Given the description of an element on the screen output the (x, y) to click on. 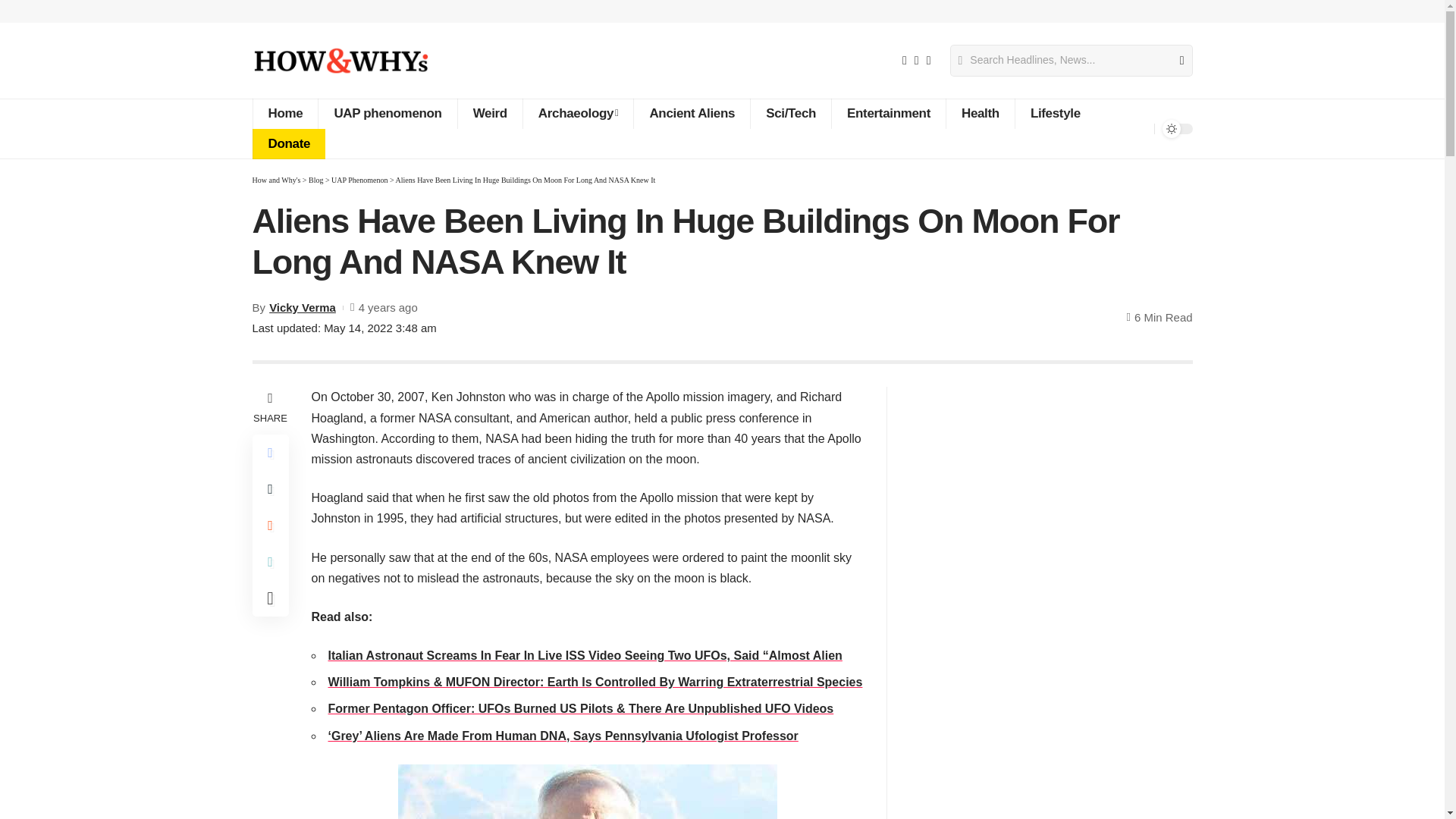
Entertainment (887, 113)
How and Why's (339, 60)
Blog (315, 180)
Weird (489, 113)
Health (979, 113)
UAP phenomenon (387, 113)
Archaeology (577, 113)
Lifestyle (1055, 113)
Donate (287, 143)
How and Why's (275, 180)
